Given the description of an element on the screen output the (x, y) to click on. 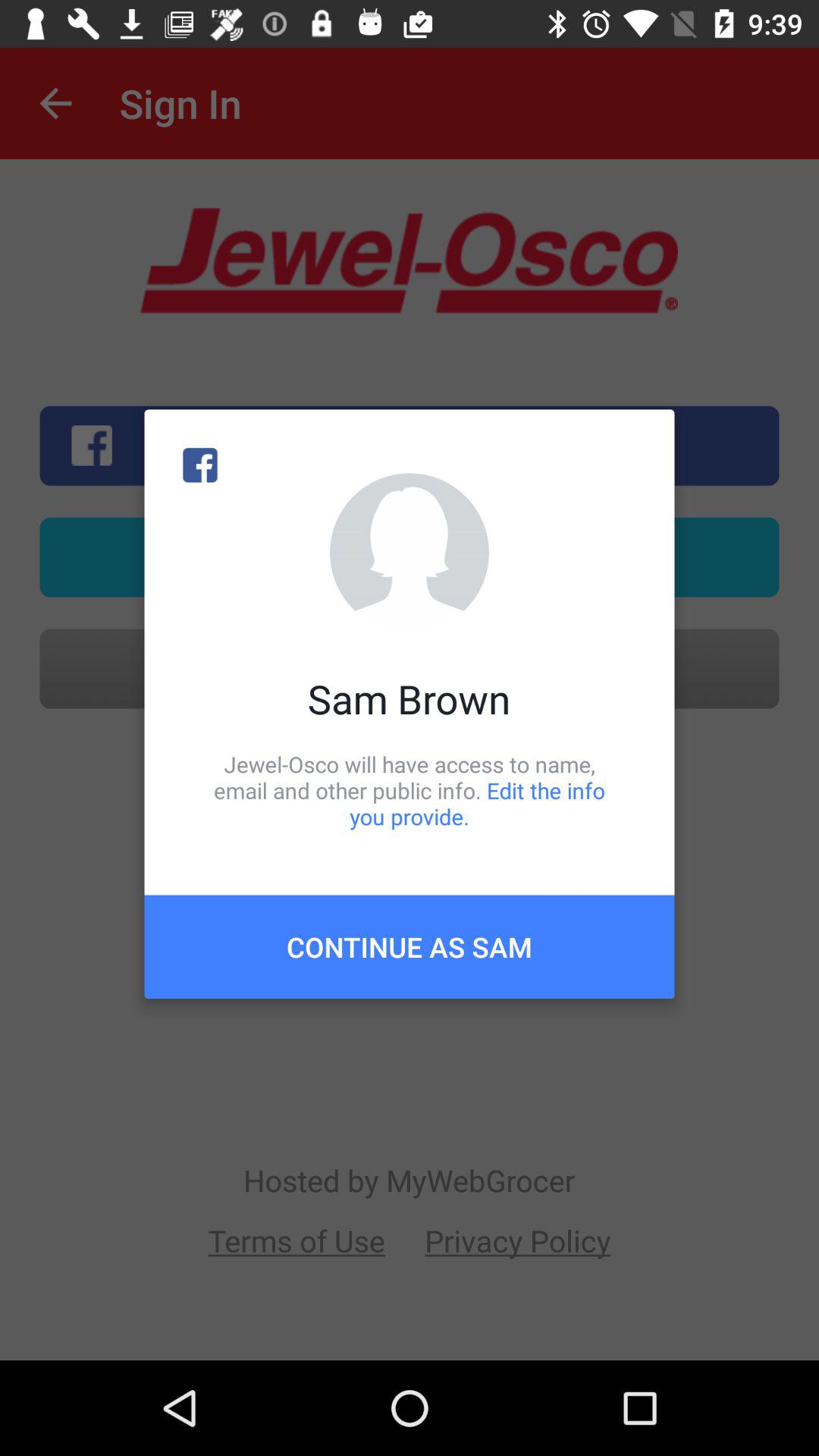
turn off the icon above continue as sam item (409, 790)
